Given the description of an element on the screen output the (x, y) to click on. 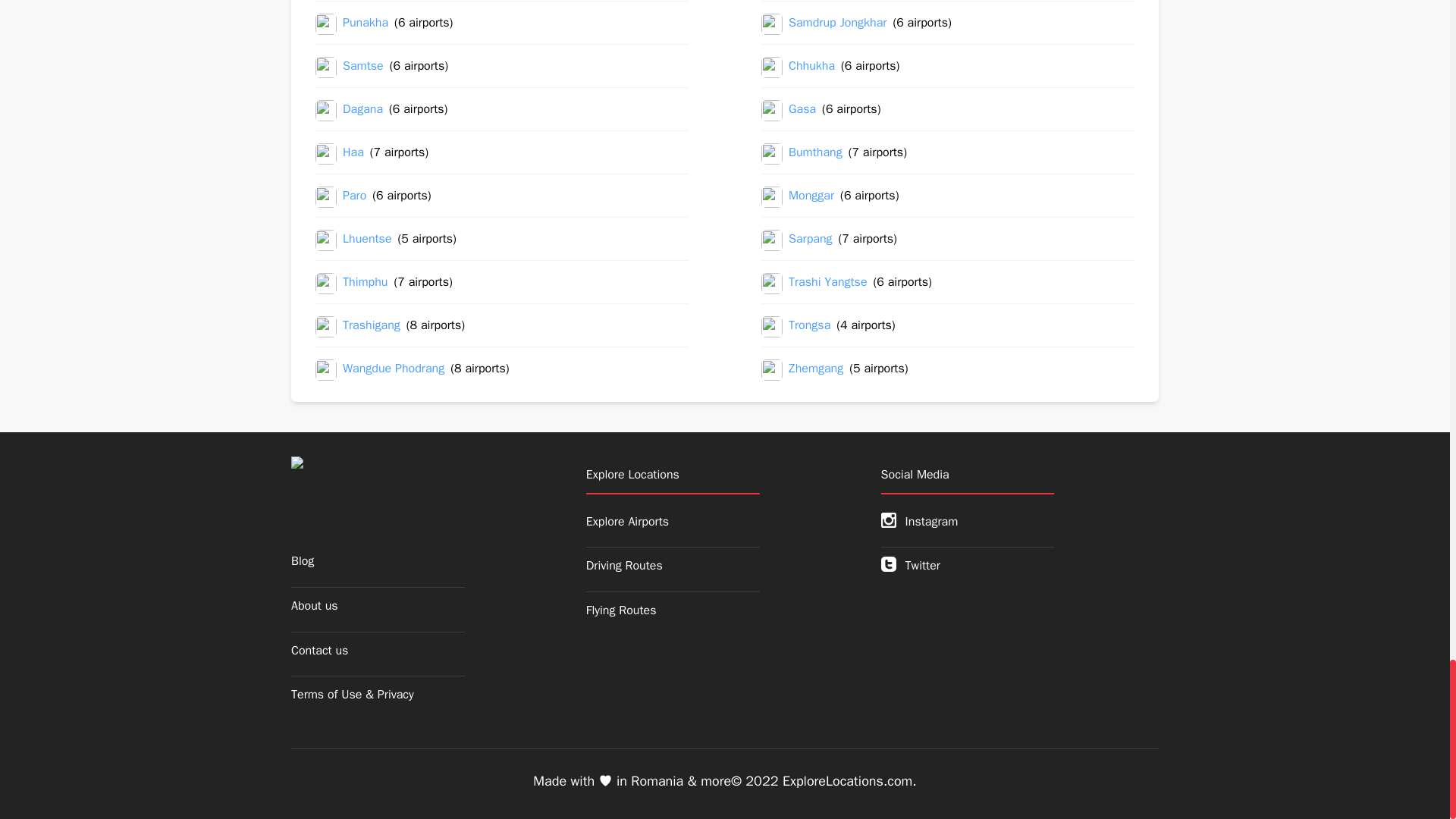
Punakha (365, 24)
Samtse (363, 66)
Haa (353, 153)
Dagana (362, 110)
Samdrup Jongkhar (837, 24)
Gasa (802, 110)
Chhukha (811, 66)
